Given the description of an element on the screen output the (x, y) to click on. 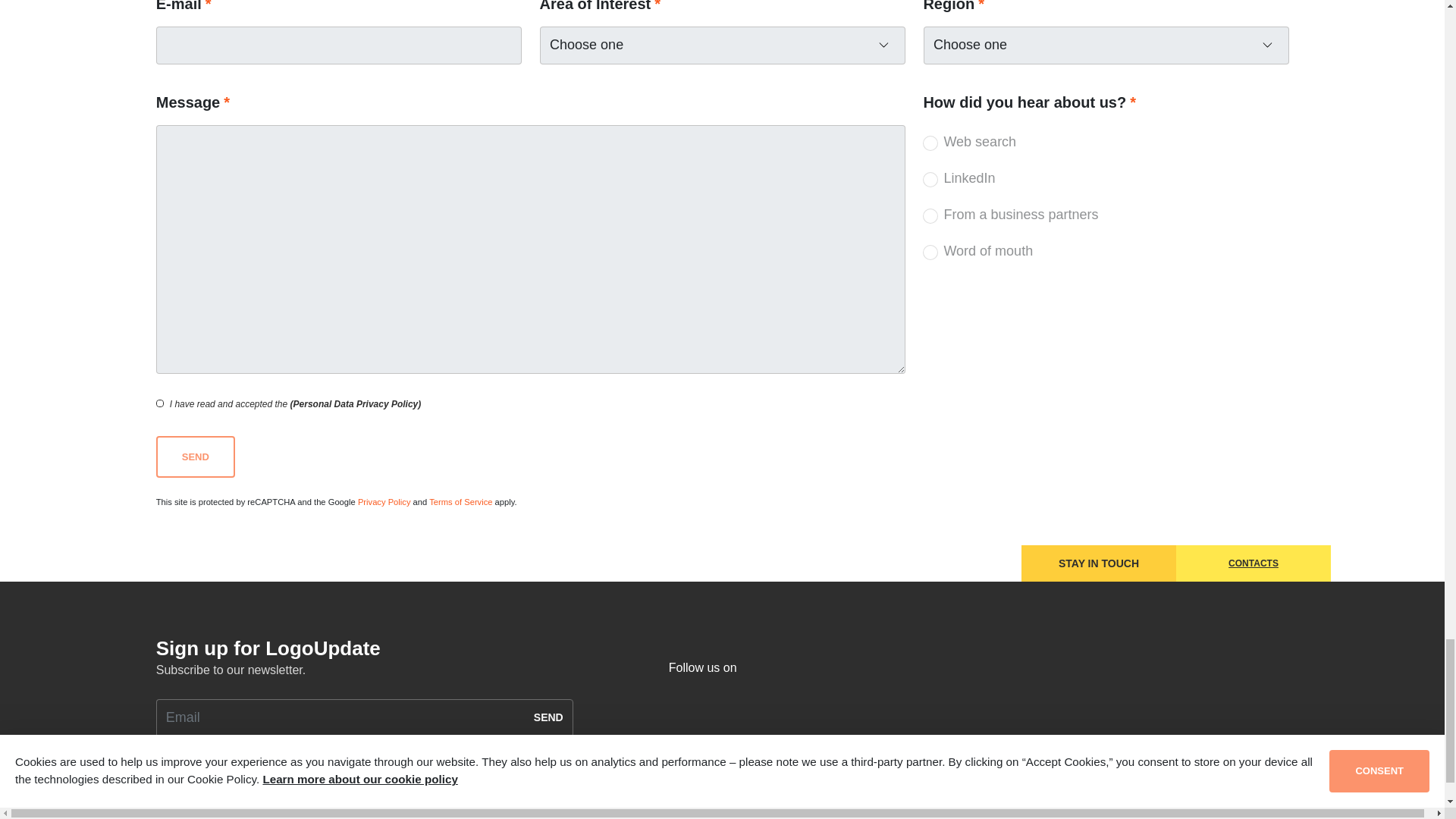
From a business partners  (930, 215)
Send (194, 456)
Terms of Service (460, 501)
Privacy Policy (384, 501)
SEND (548, 718)
Word of mouth (930, 252)
Send (194, 456)
LinkedIn (930, 179)
Web search (930, 142)
